Given the description of an element on the screen output the (x, y) to click on. 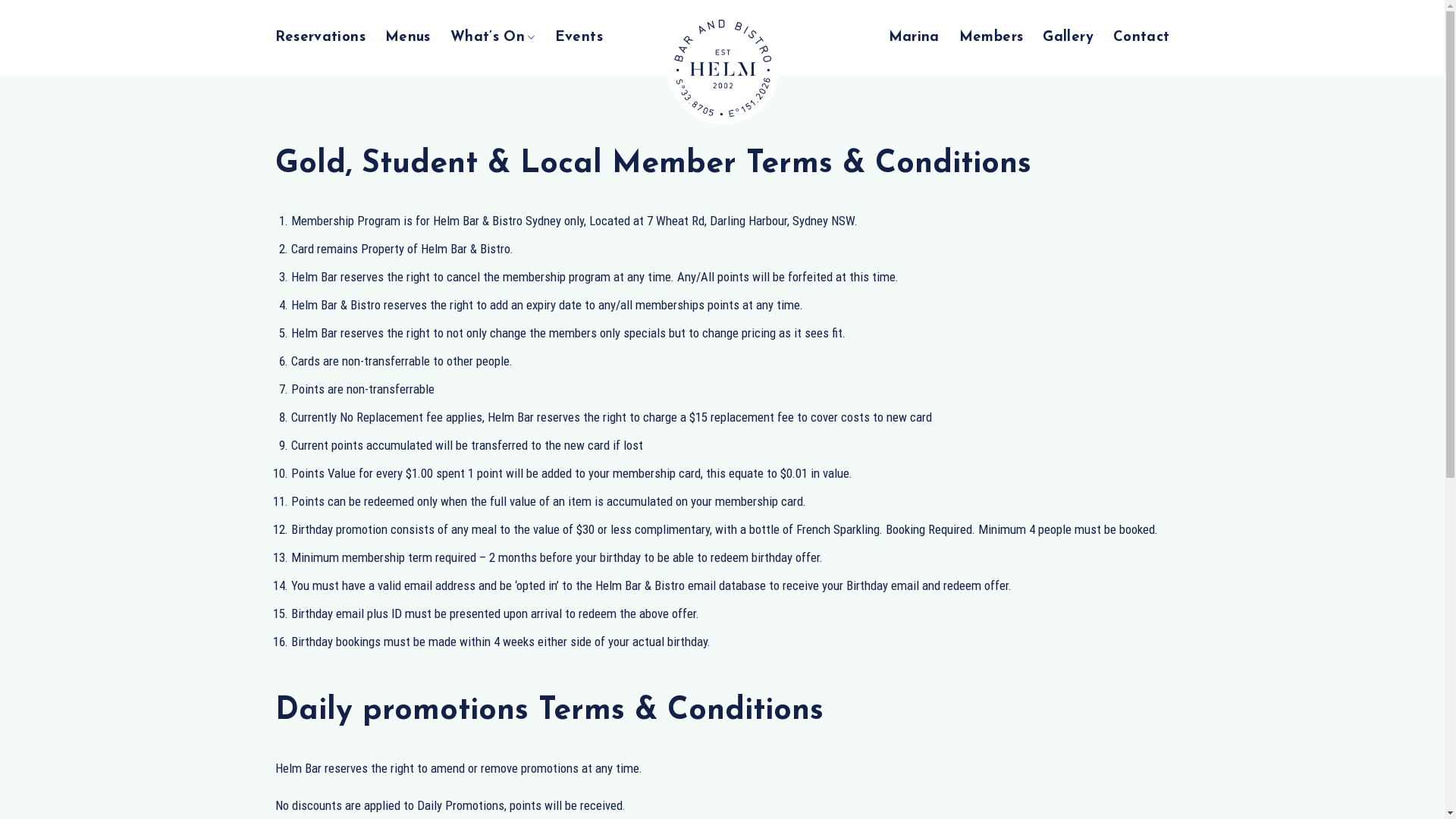
Contact Element type: text (1141, 37)
Reservations Element type: text (319, 37)
Menus Element type: text (407, 37)
Gallery Element type: text (1067, 37)
Members Element type: text (991, 37)
Marina Element type: text (913, 37)
Helm Bar - My WordPress Blog Element type: hover (722, 68)
Events Element type: text (578, 37)
